Given the description of an element on the screen output the (x, y) to click on. 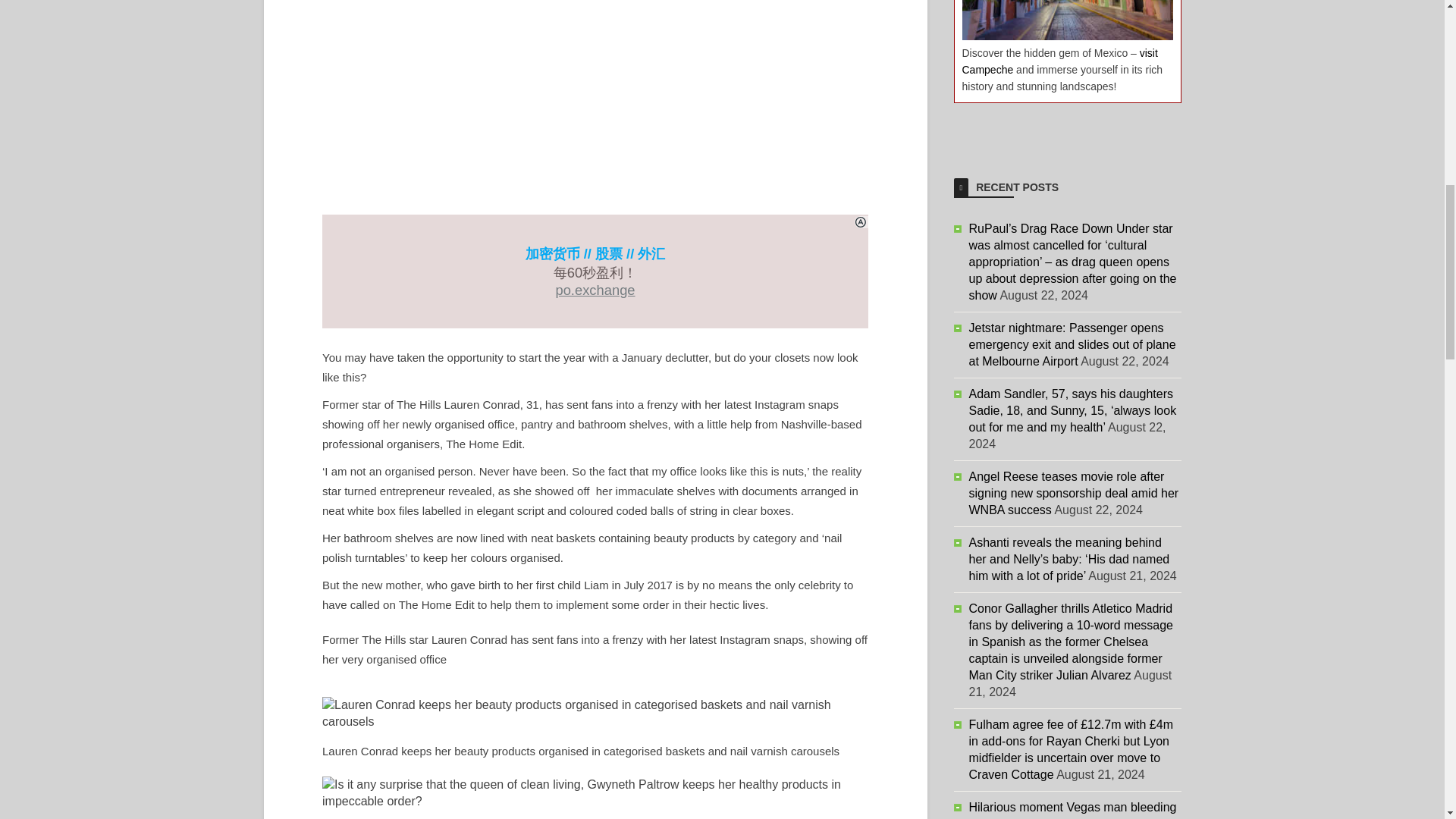
visit Campeche (1058, 61)
